Given the description of an element on the screen output the (x, y) to click on. 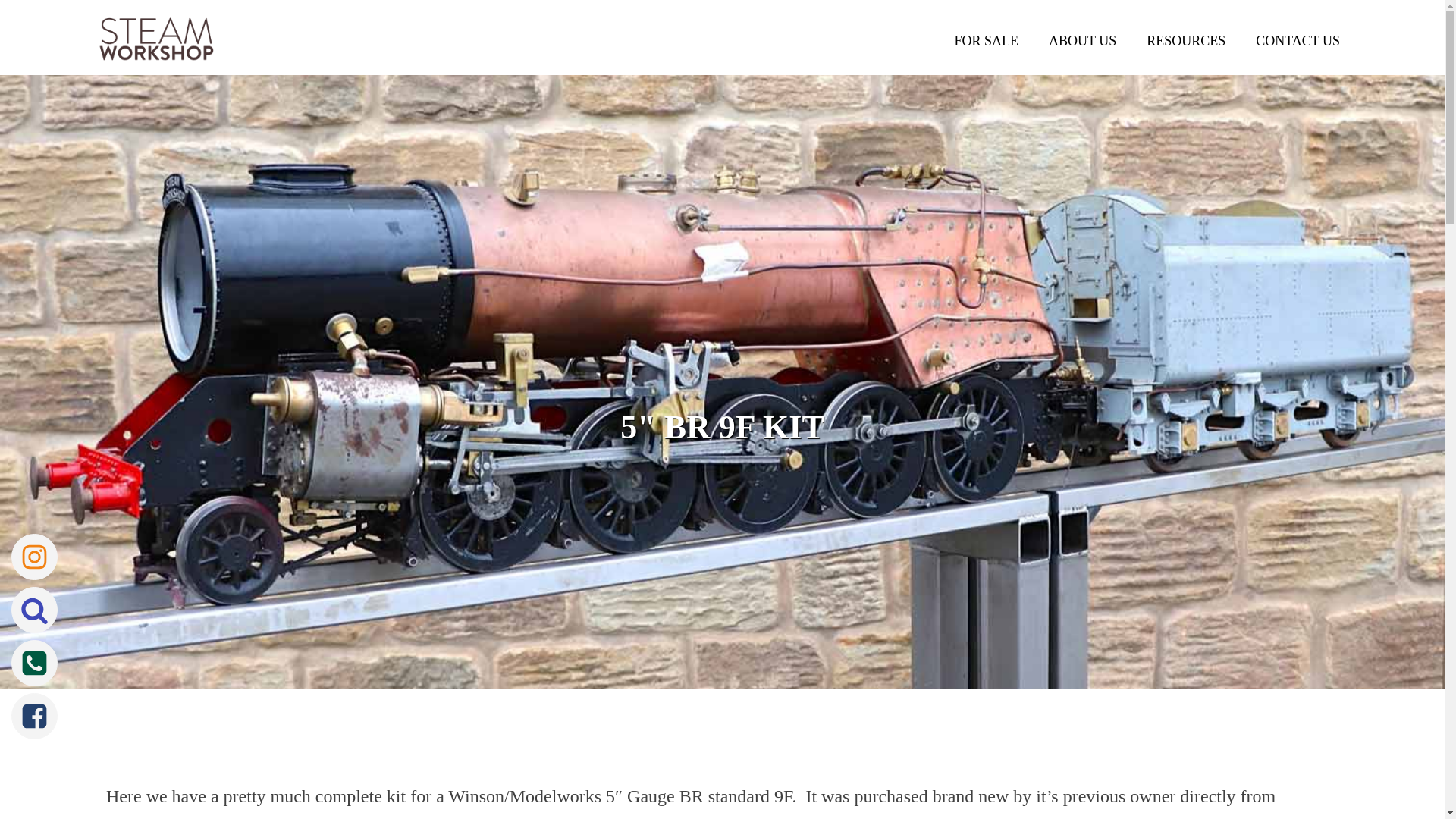
ABOUT US (1082, 40)
FOR SALE (986, 40)
RESOURCES (1185, 40)
CONTACT US (1297, 40)
